Given the description of an element on the screen output the (x, y) to click on. 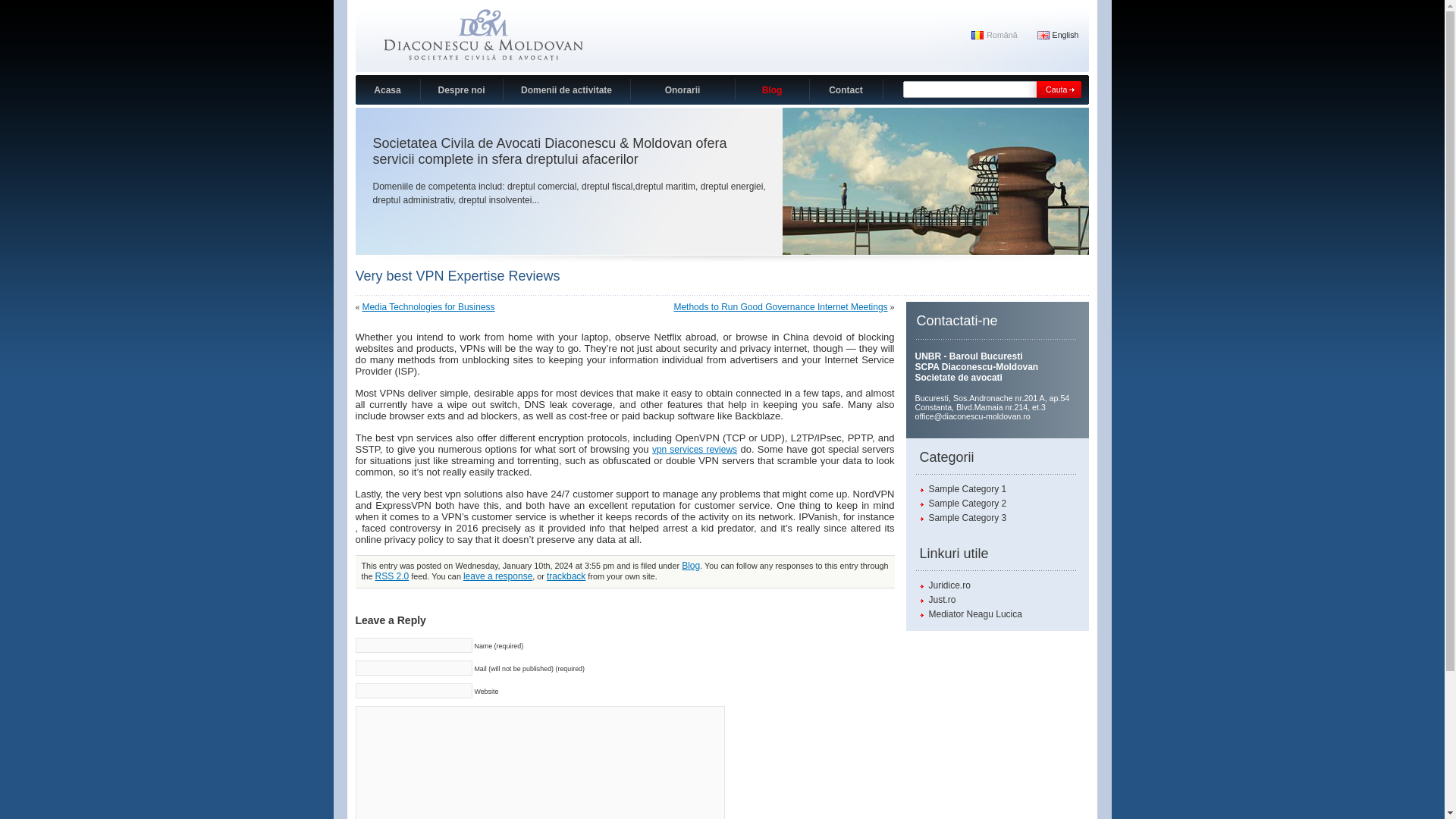
Juridice.ro (943, 584)
Methods to Run Good Governance Internet Meetings (779, 307)
Sample Category 3 (962, 517)
Acasa (387, 89)
Mediator Neagu Lucica (970, 614)
Blog (772, 89)
Cauta (1057, 89)
Domenii de activitate (566, 89)
Despre noi (461, 89)
leave a response (497, 575)
Blog (690, 565)
Sample Category 2 (962, 502)
Just.ro (936, 599)
 English (1057, 34)
Media Technologies for Business (428, 307)
